Given the description of an element on the screen output the (x, y) to click on. 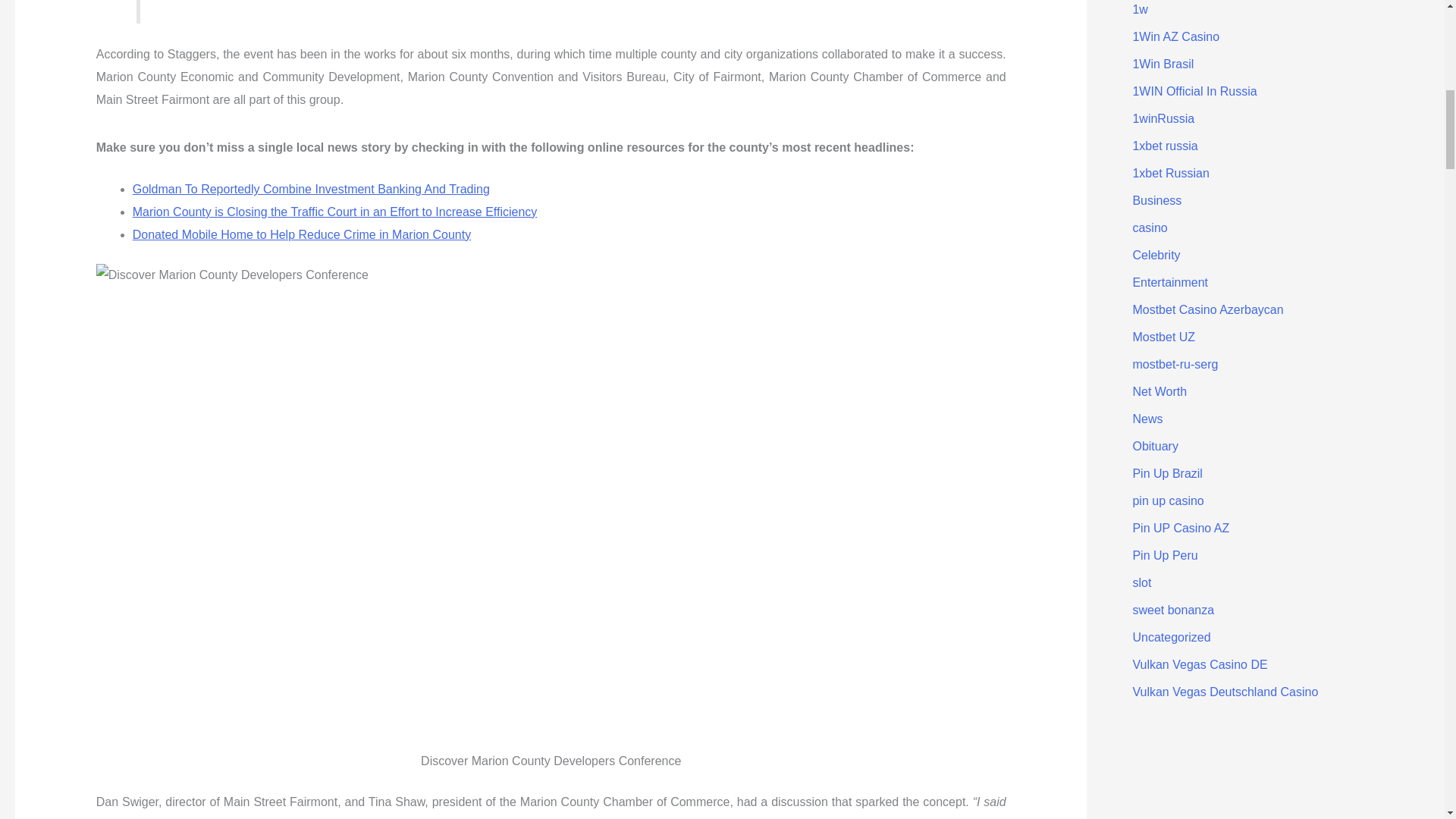
Donated Mobile Home to Help Reduce Crime in Marion County (301, 234)
Goldman To Reportedly Combine Investment Banking And Trading (310, 188)
